Given the description of an element on the screen output the (x, y) to click on. 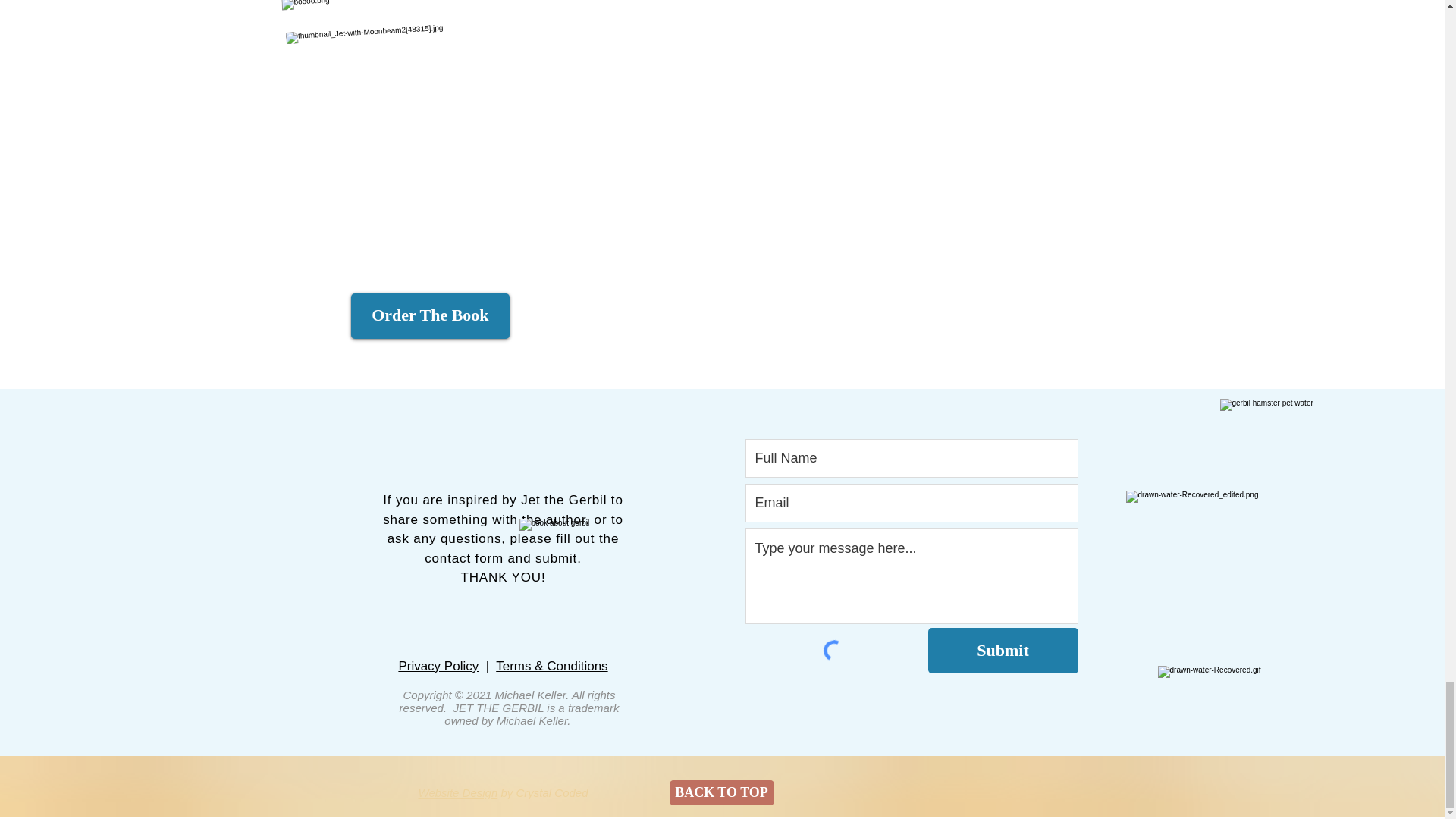
Order The Book (429, 315)
Submit (1003, 650)
Privacy Policy (438, 666)
BACK TO TOP (720, 792)
Website Design (458, 792)
